Given the description of an element on the screen output the (x, y) to click on. 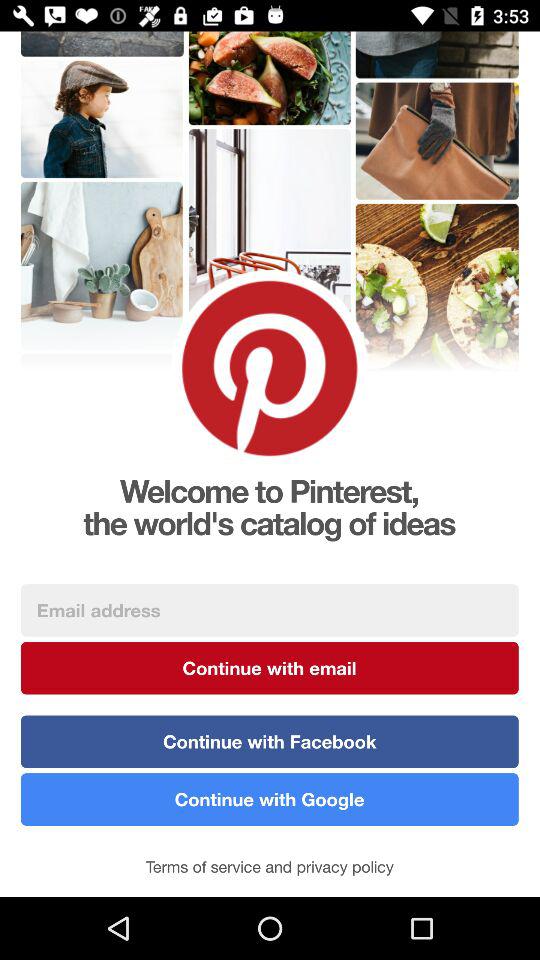
email address (269, 610)
